Given the description of an element on the screen output the (x, y) to click on. 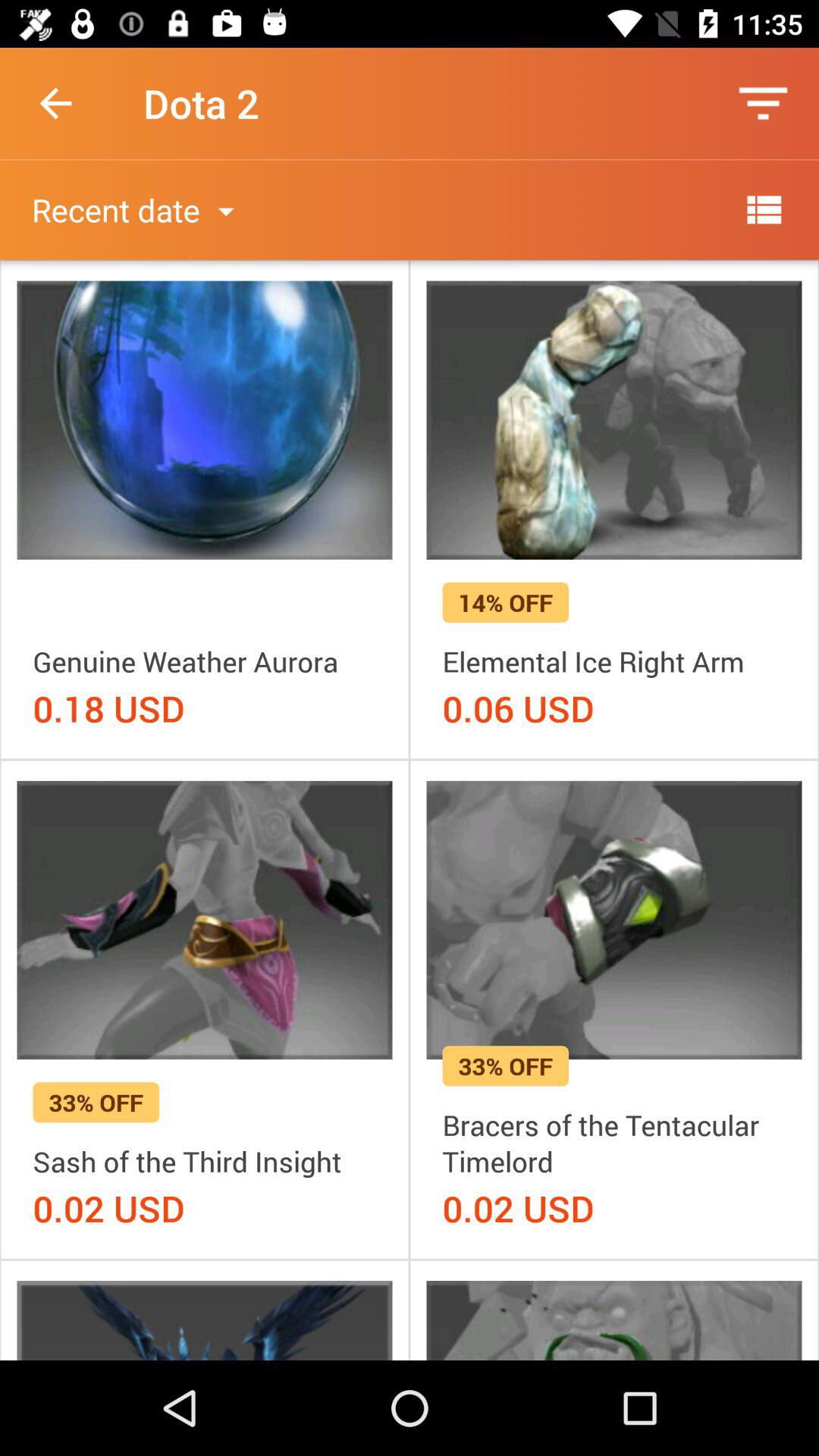
open item to the left of the dota 2 (55, 103)
